Given the description of an element on the screen output the (x, y) to click on. 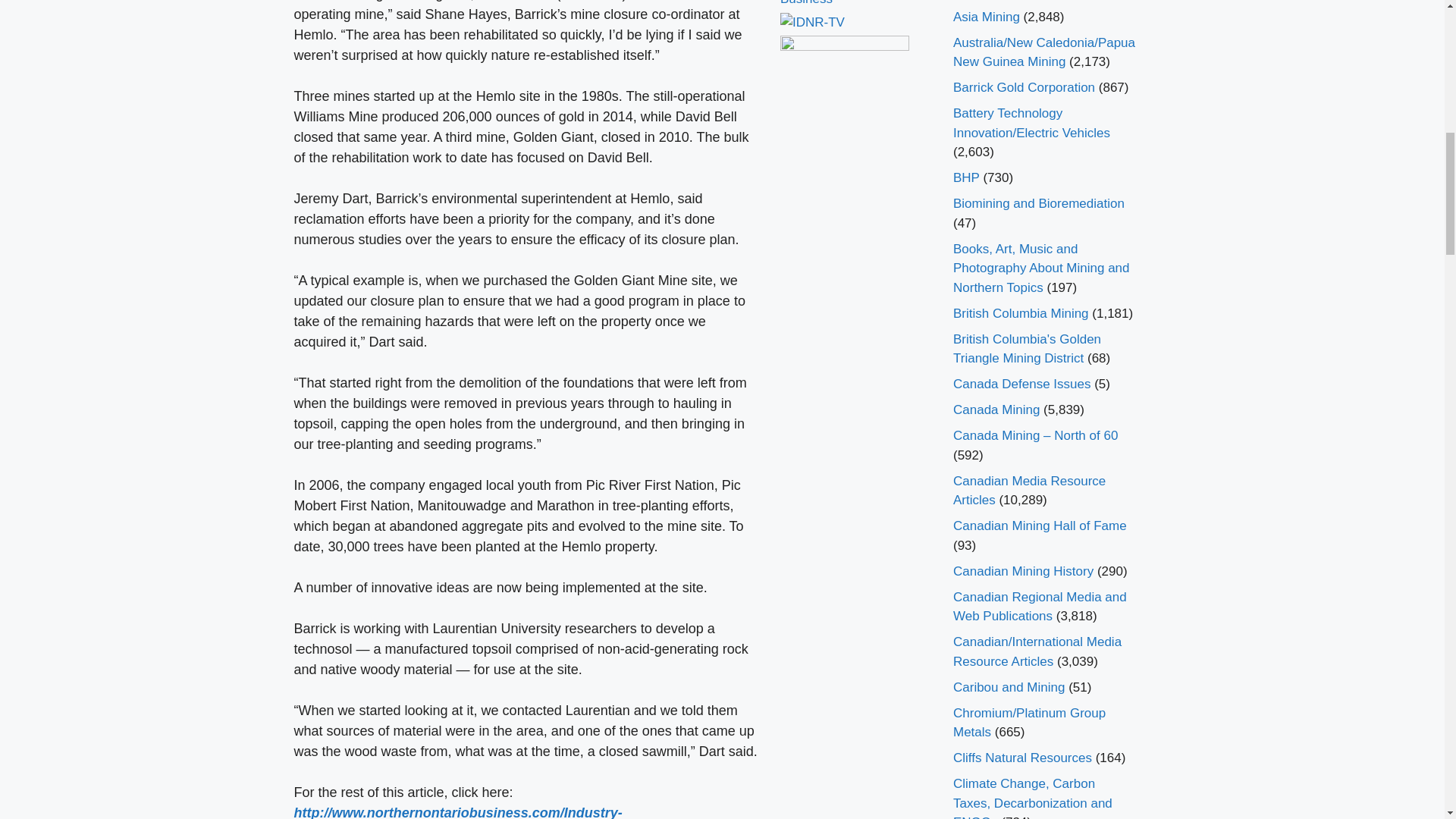
Scroll back to top (1406, 720)
